Given the description of an element on the screen output the (x, y) to click on. 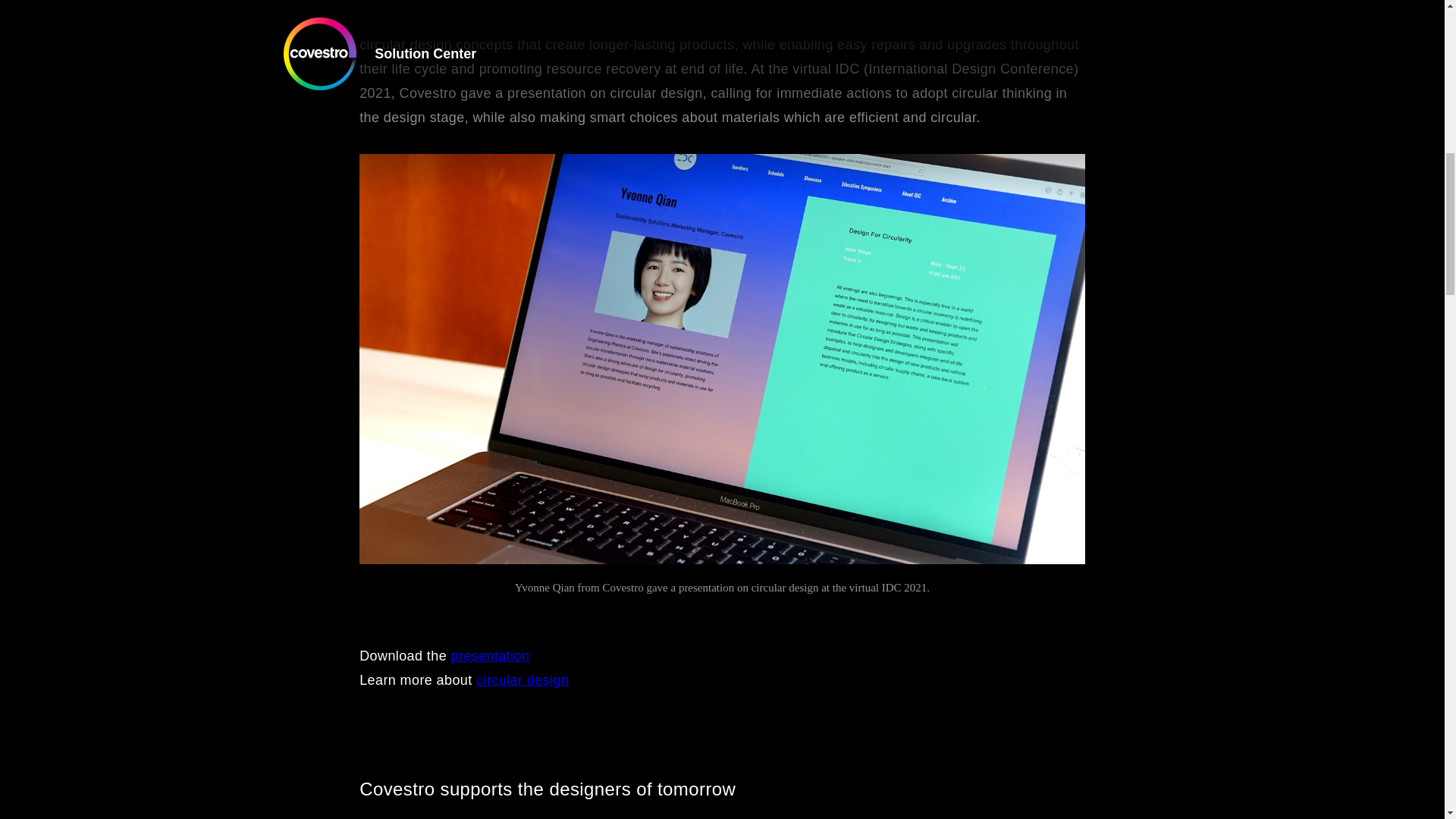
circular design (522, 679)
presentation (489, 655)
